Given the description of an element on the screen output the (x, y) to click on. 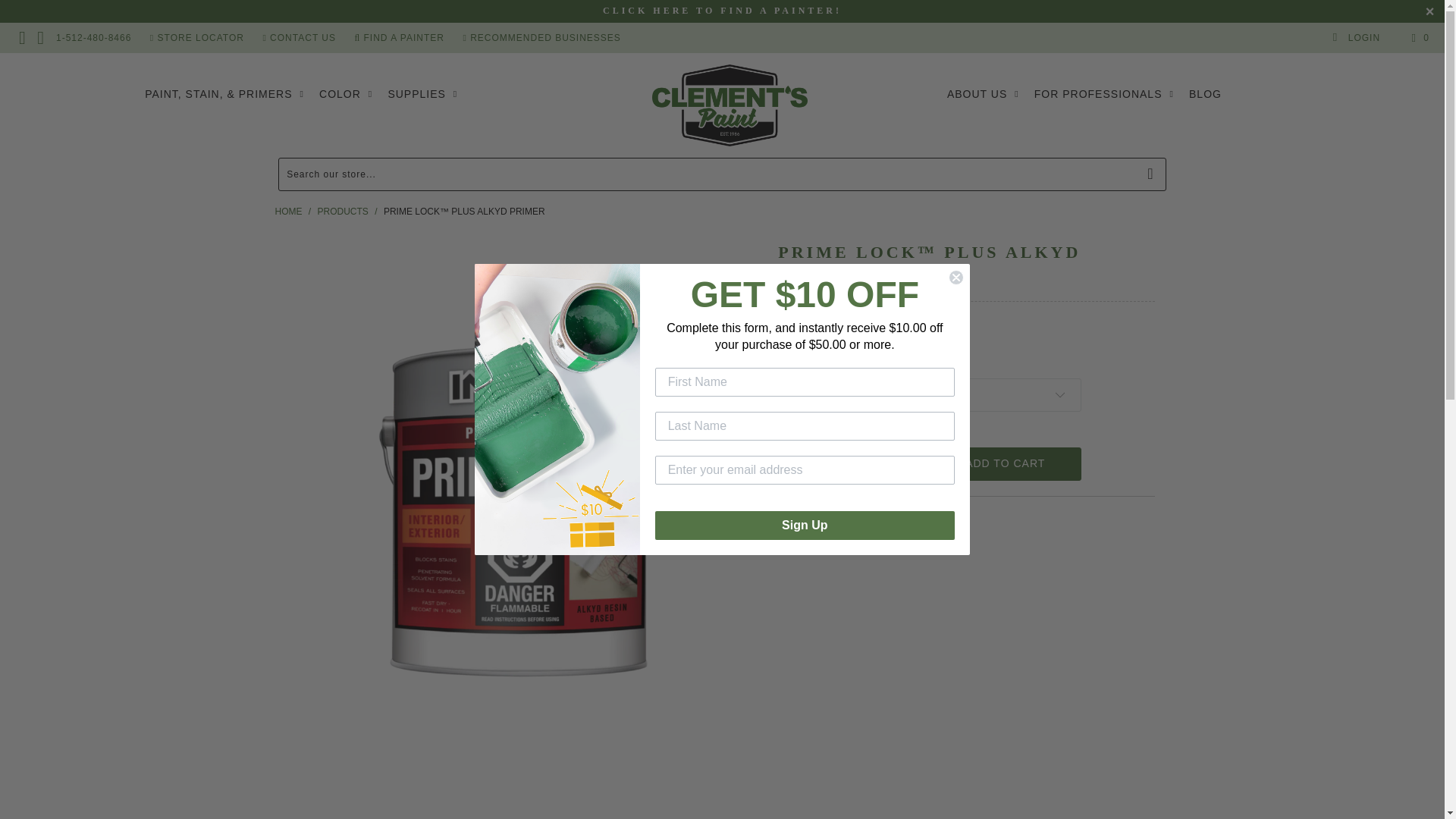
Share this on Pinterest (876, 528)
Find a Painter (721, 9)
My Account  (1355, 37)
Clement's Paint on Facebook (22, 37)
Products (342, 211)
Clement's Paint (288, 211)
Clement's Paint (729, 105)
1 (848, 463)
Share this on Facebook (834, 528)
Email this to a friend (916, 528)
Share this on Twitter (793, 528)
Clement's Paint on Instagram (41, 37)
